Given the description of an element on the screen output the (x, y) to click on. 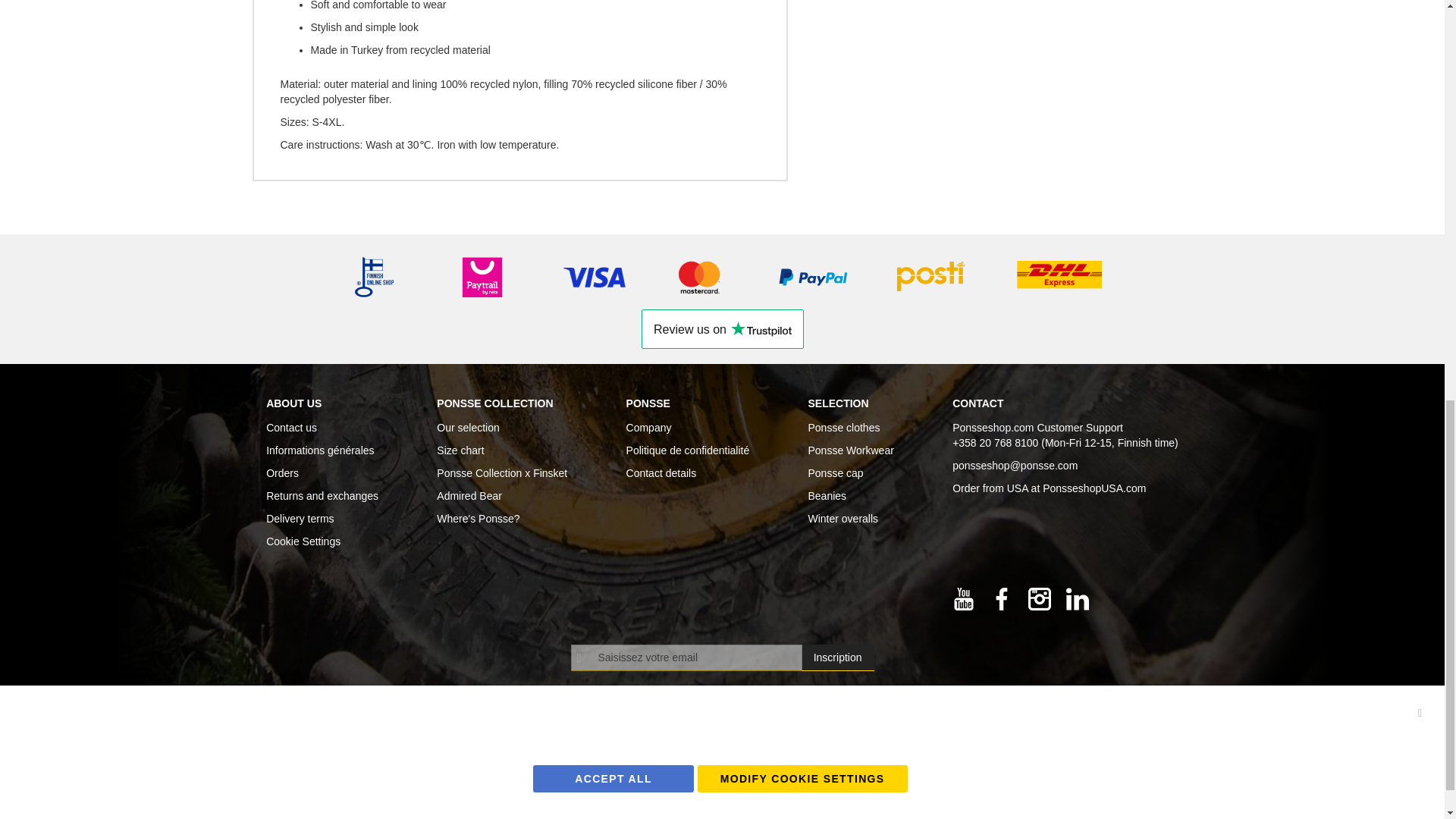
Customer reviews powered by Trustpilot (721, 328)
Inscription (838, 657)
